Given the description of an element on the screen output the (x, y) to click on. 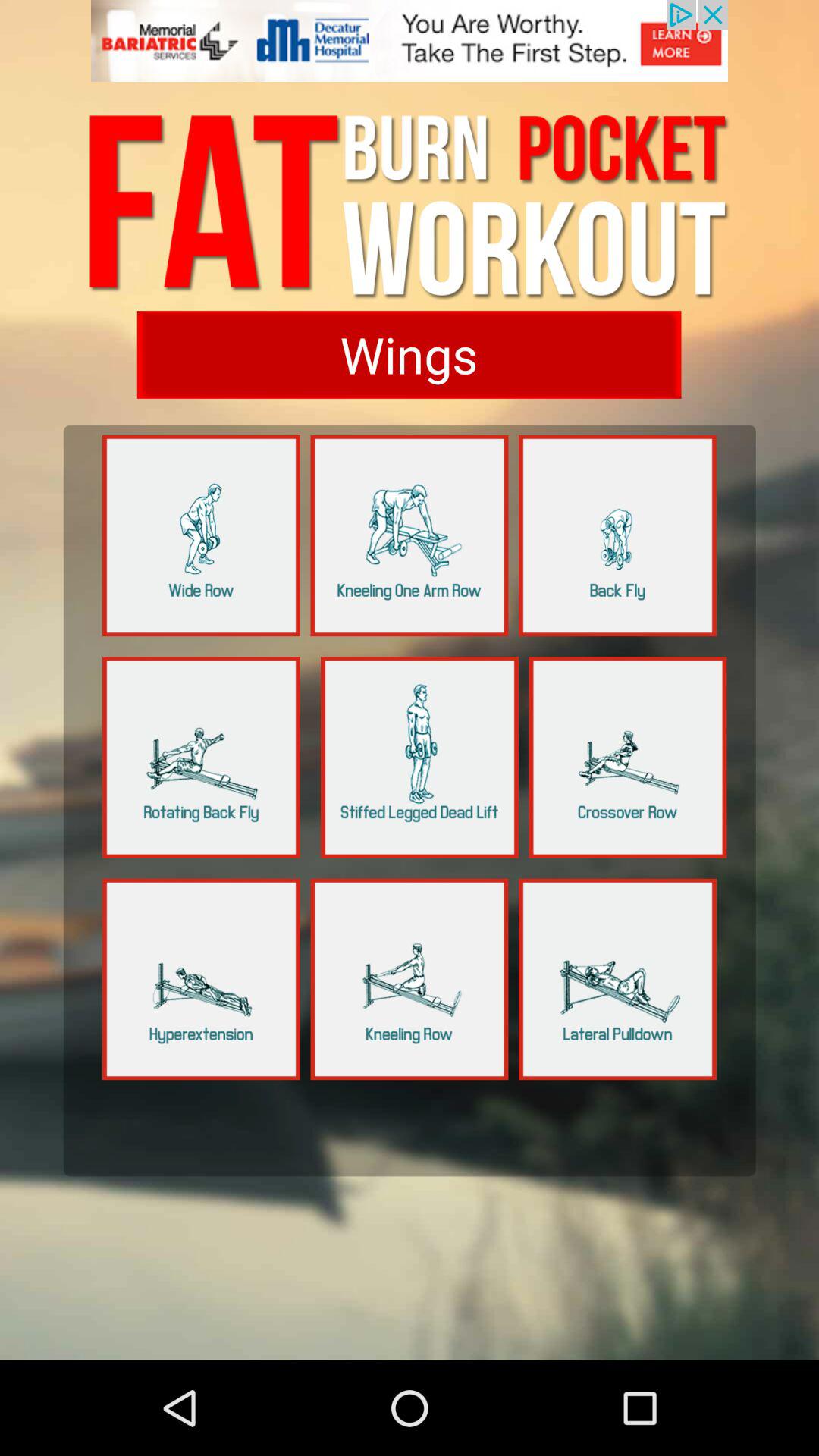
show the add (409, 49)
